Given the description of an element on the screen output the (x, y) to click on. 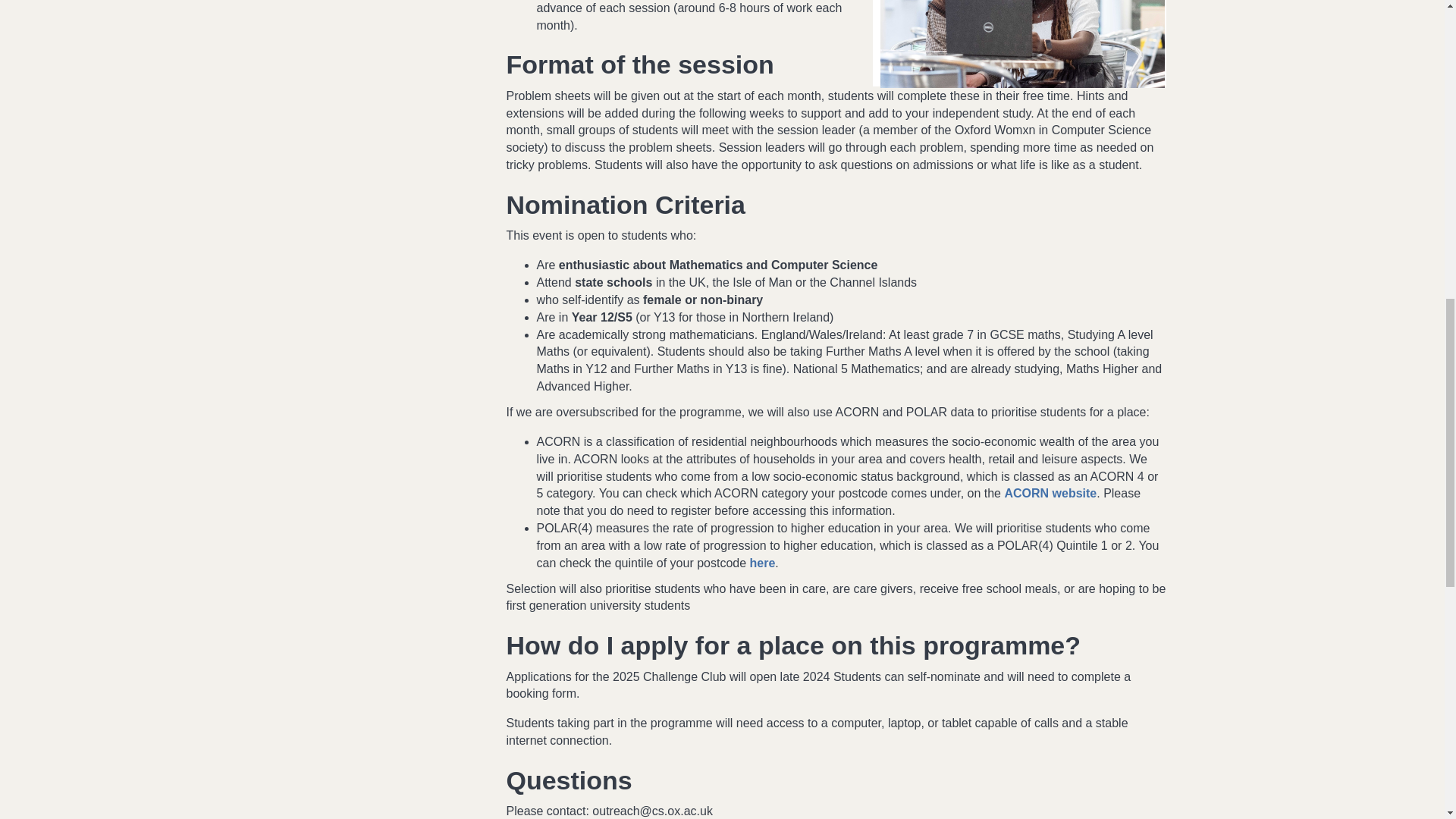
ChallengeClub (1022, 43)
ACORN website (1050, 492)
here (762, 562)
